Given the description of an element on the screen output the (x, y) to click on. 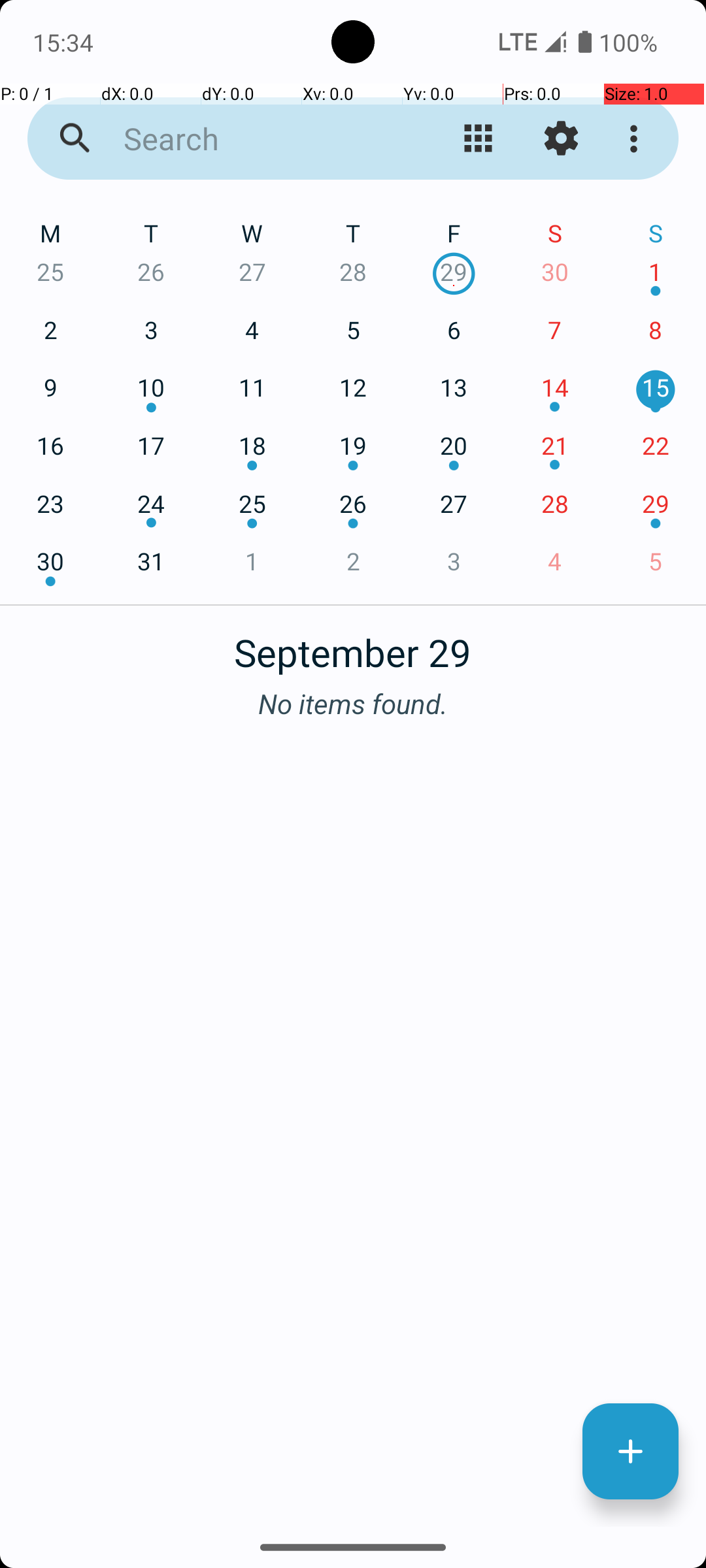
September 29 Element type: android.widget.TextView (352, 644)
